Given the description of an element on the screen output the (x, y) to click on. 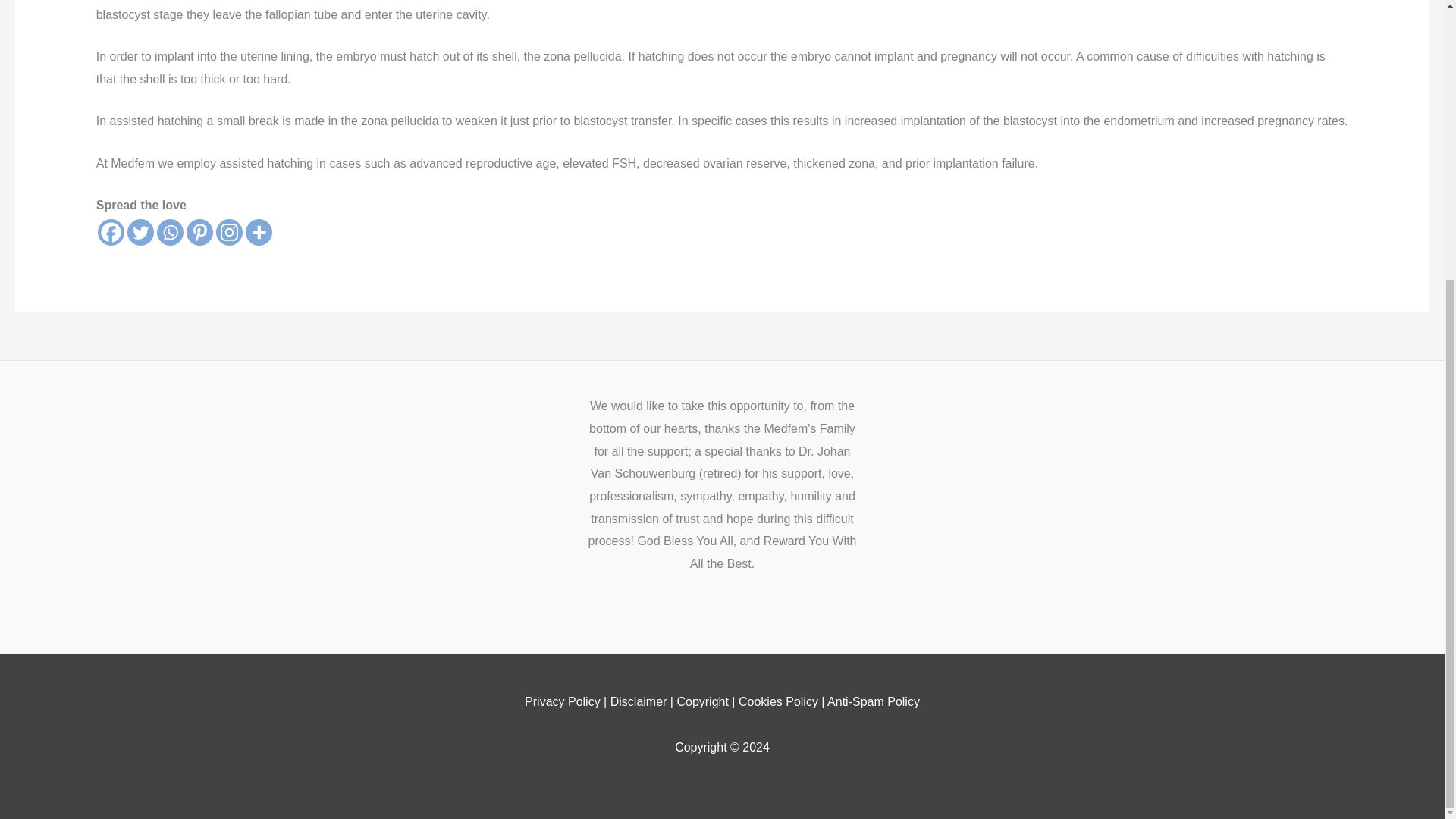
More (259, 232)
Pinterest (199, 232)
Facebook (110, 232)
Whatsapp (170, 232)
Instagram (229, 232)
Twitter (141, 232)
